Given the description of an element on the screen output the (x, y) to click on. 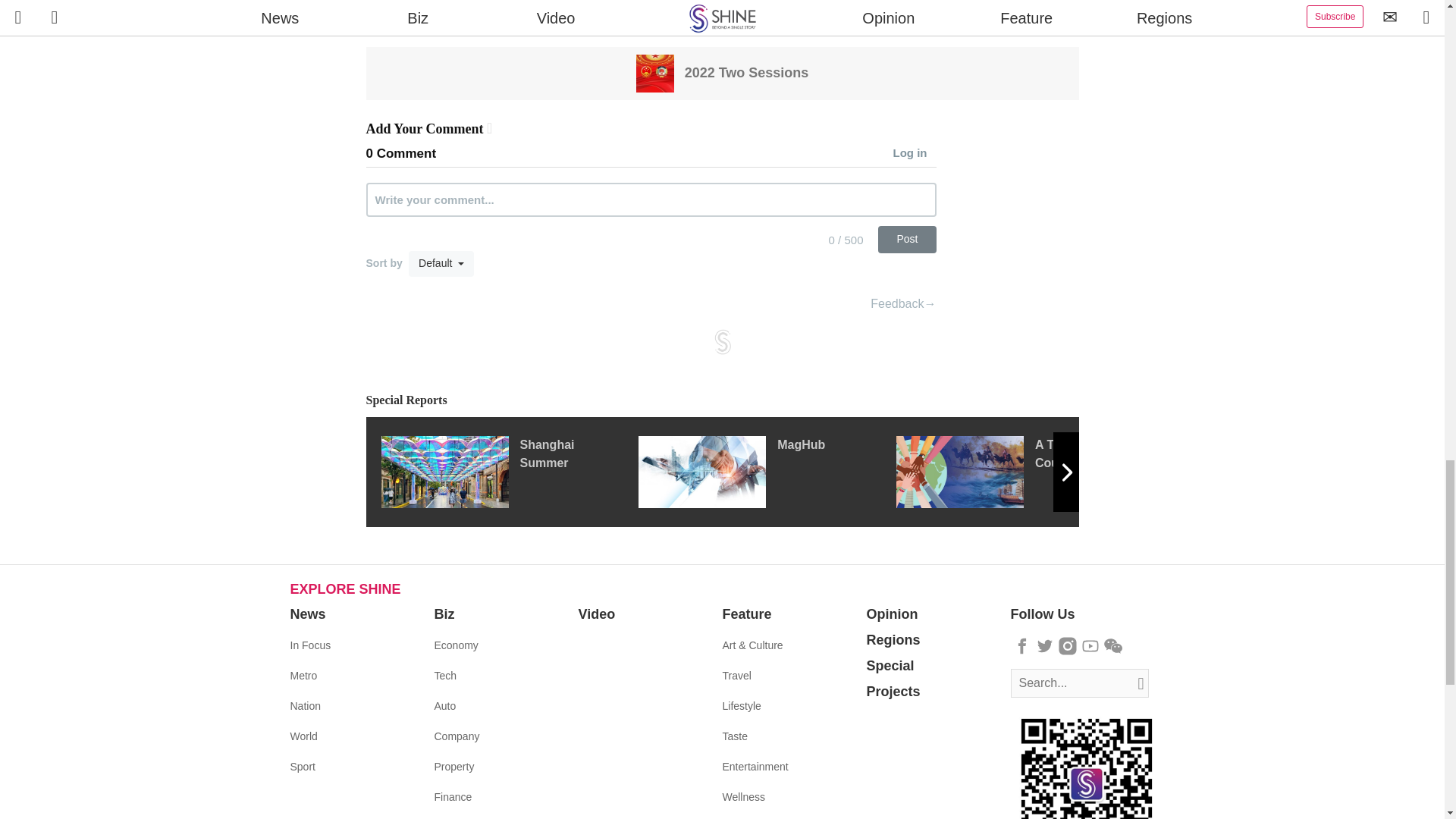
Follow us on Twitter (1044, 646)
Follow us on Instagram (1067, 646)
Follow us on Youtube (1090, 646)
Follow us on Facebook (1021, 646)
Default   (441, 263)
2022 Two Sessions (722, 72)
MagHub (767, 470)
Log in (914, 154)
Follow us on Wechat (1112, 646)
Shanghai Summer (508, 470)
A Tale of Two Countries (1024, 470)
Special Reports (721, 400)
